Given the description of an element on the screen output the (x, y) to click on. 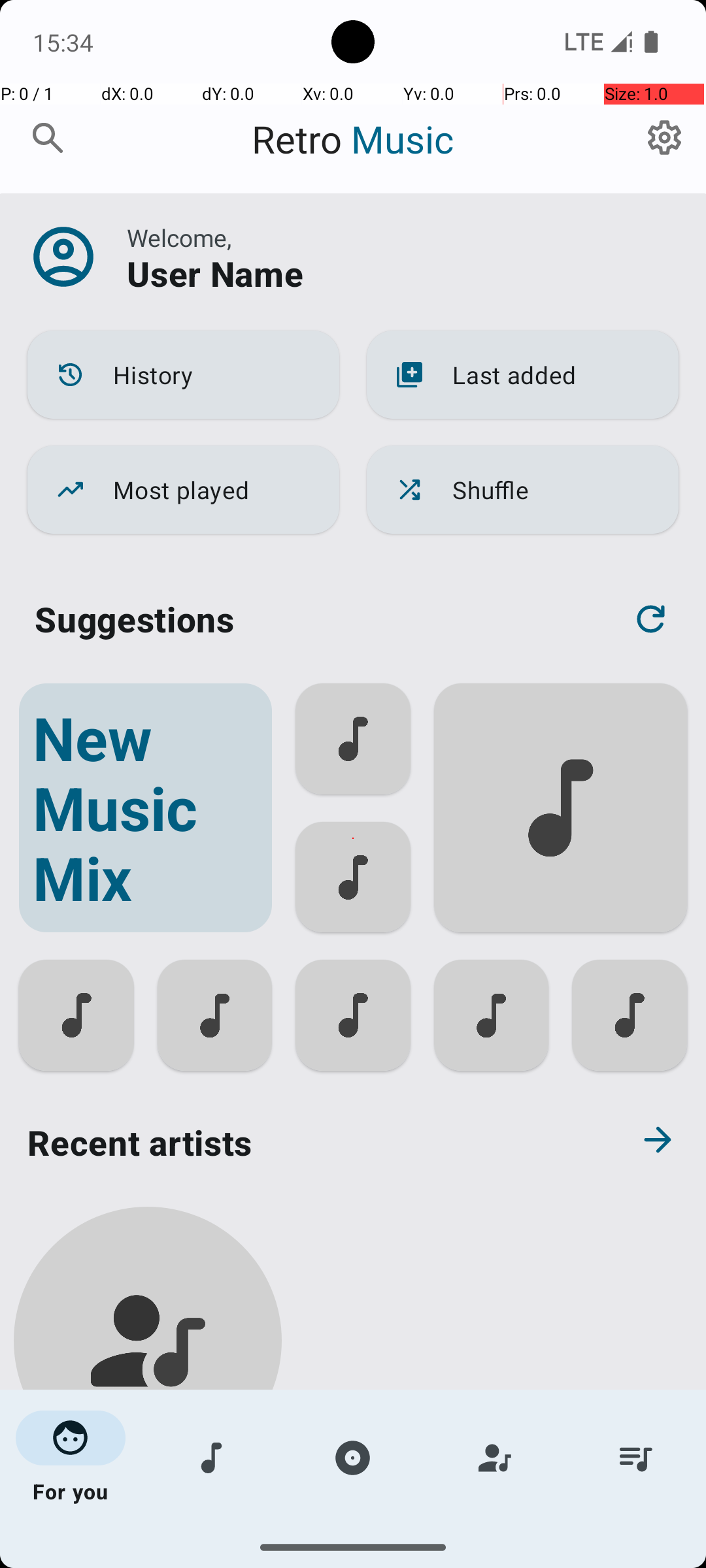
Retro Music Element type: android.widget.TextView (352, 138)
For you Element type: android.widget.FrameLayout (70, 1457)
Songs Element type: android.widget.FrameLayout (211, 1457)
Albums Element type: android.widget.FrameLayout (352, 1457)
Artists Element type: android.widget.FrameLayout (493, 1457)
Playlists Element type: android.widget.FrameLayout (635, 1457)
Welcome, Element type: android.widget.TextView (179, 237)
User Name Element type: android.widget.TextView (214, 273)
Last added Element type: android.widget.Button (522, 374)
Most played Element type: android.widget.Button (183, 489)
Shuffle Element type: android.widget.Button (522, 489)
Suggestions Element type: android.widget.TextView (134, 618)
New Music Mix Element type: android.widget.TextView (144, 807)
Recent artists Element type: android.widget.TextView (304, 1141)
Recent albums Element type: android.widget.TextView (304, 1557)
Martin Element type: android.widget.TextView (147, 1503)
